Given the description of an element on the screen output the (x, y) to click on. 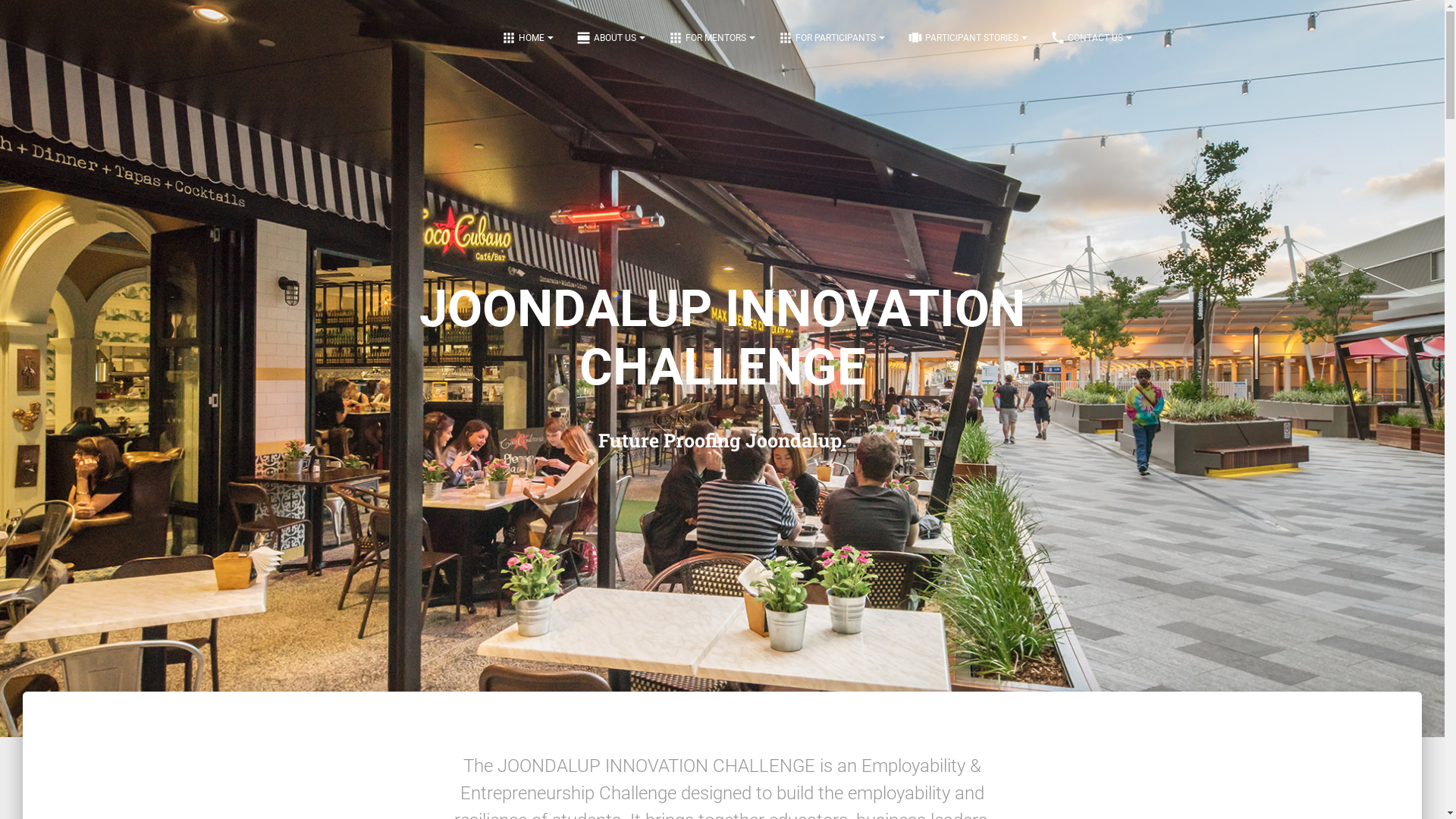
FOR PARTICIPANTS Element type: text (830, 37)
PARTICIPANT STORIES Element type: text (967, 37)
HOME Element type: text (526, 37)
CONTACT US Element type: text (1090, 37)
FOR MENTORS Element type: text (711, 37)
ABOUT US Element type: text (609, 37)
